Given the description of an element on the screen output the (x, y) to click on. 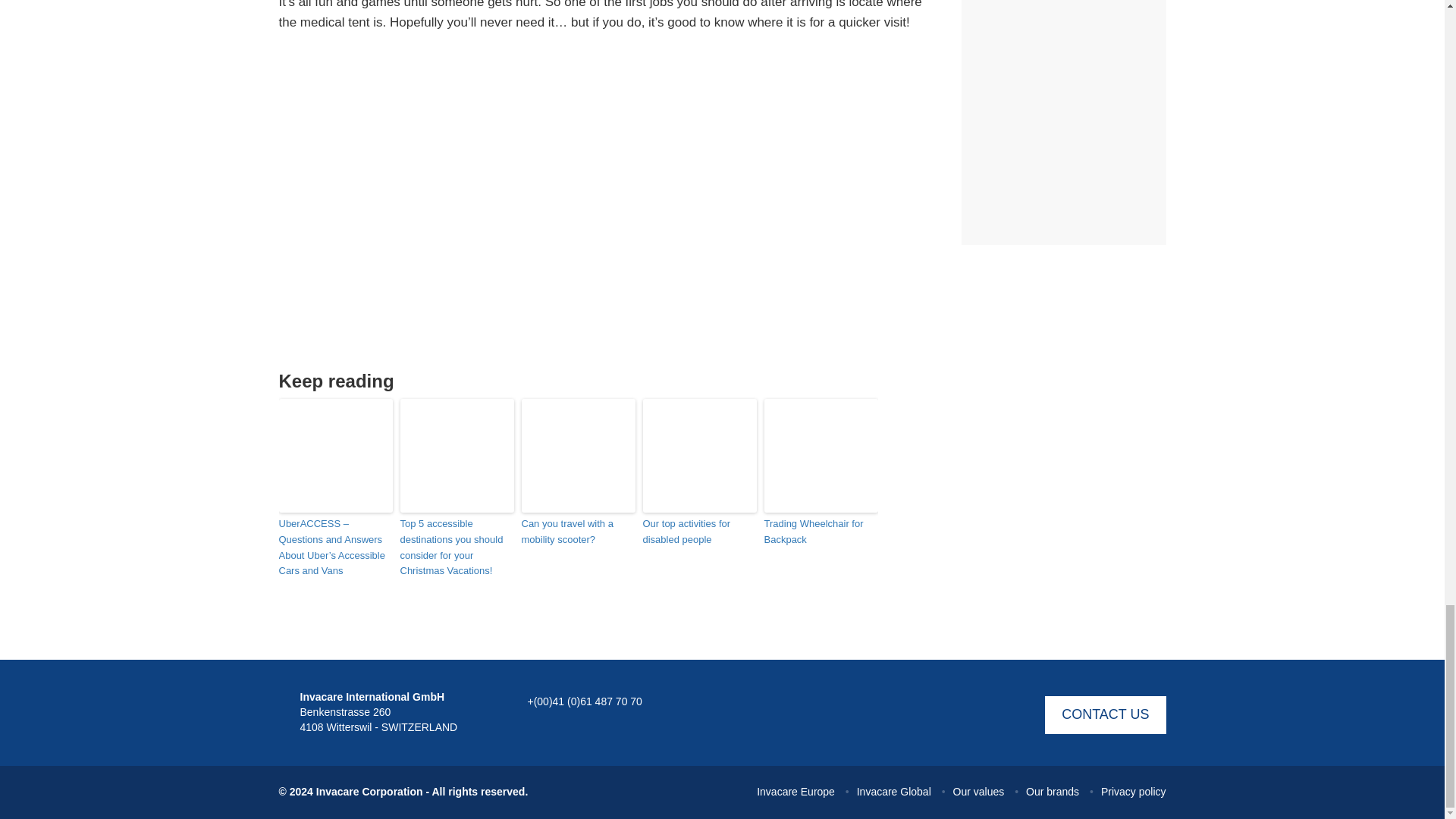
Can you travel with a mobility scooter? (577, 531)
Our top activities for disabled people (700, 531)
Trading Wheelchair for Backpack (820, 531)
